Given the description of an element on the screen output the (x, y) to click on. 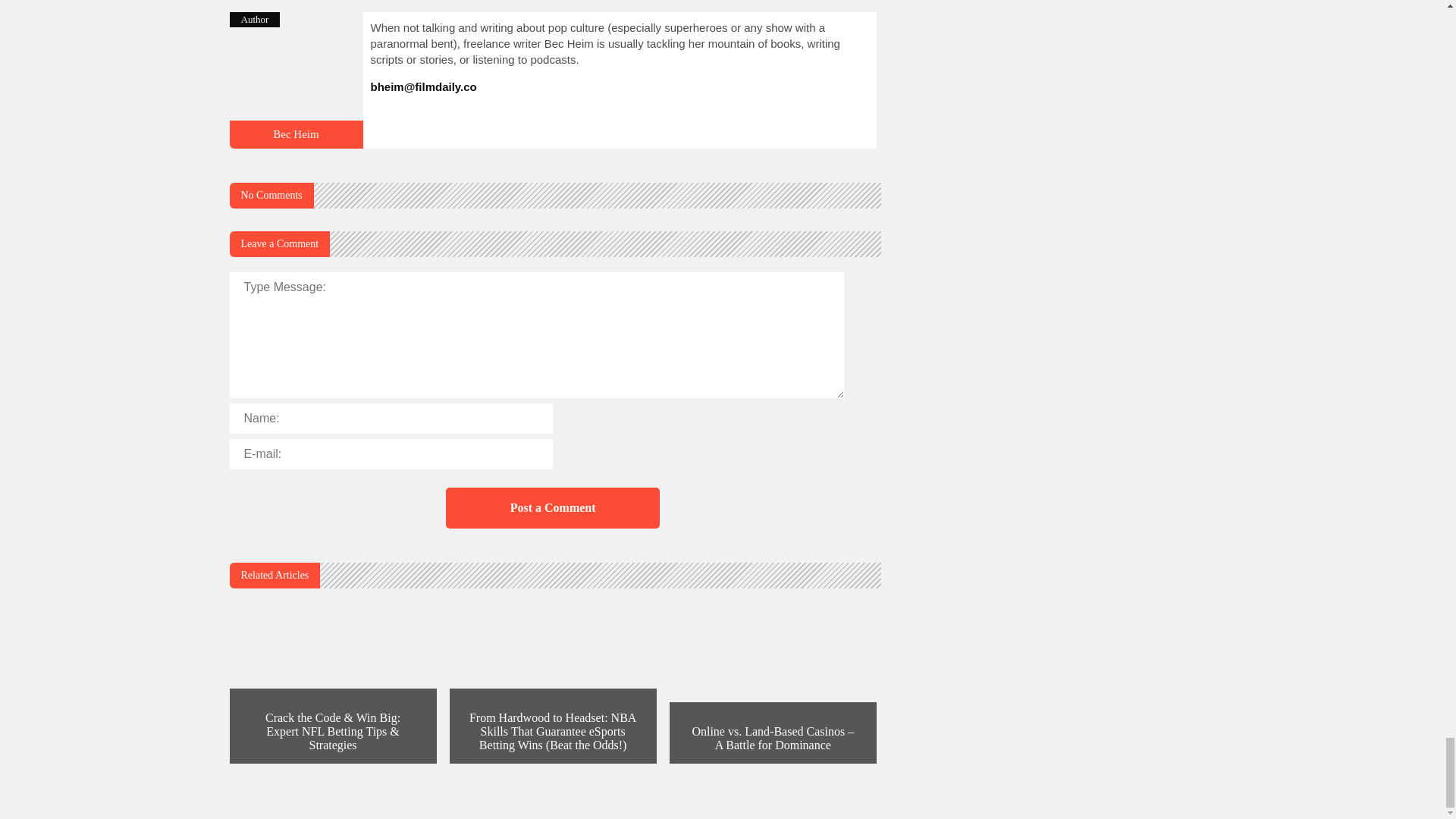
Post a Comment (552, 507)
